Given the description of an element on the screen output the (x, y) to click on. 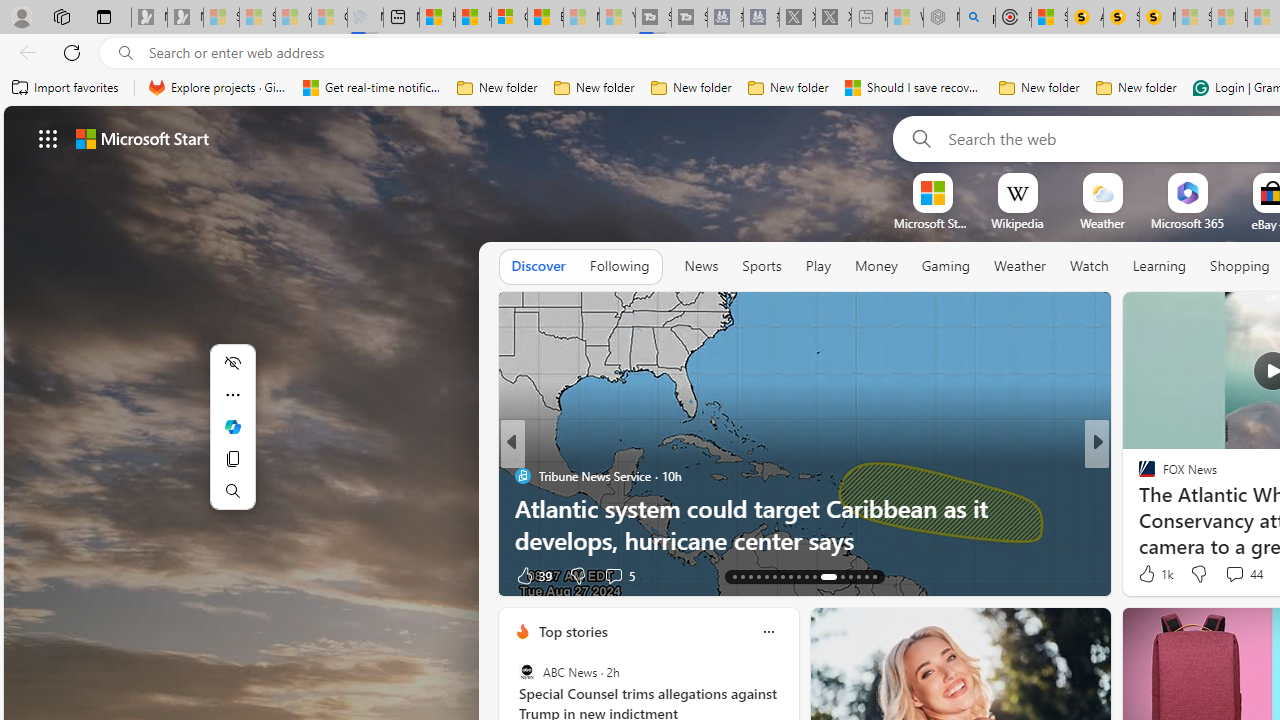
AutomationID: tab-25 (836, 576)
View comments 1 Comment (1241, 574)
Mini menu on text selection (232, 439)
New folder (1136, 88)
AutomationID: tab-27 (857, 576)
Newsletter Sign Up - Sleeping (185, 17)
AutomationID: tab-20 (789, 576)
USA TODAY (1138, 475)
92 Like (532, 574)
